Given the description of an element on the screen output the (x, y) to click on. 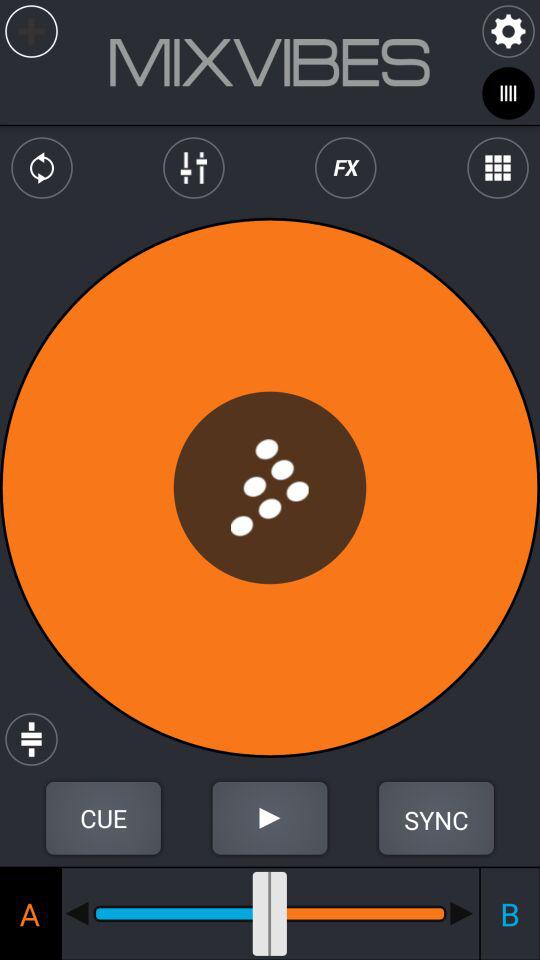
move slider to the right (462, 913)
